Given the description of an element on the screen output the (x, y) to click on. 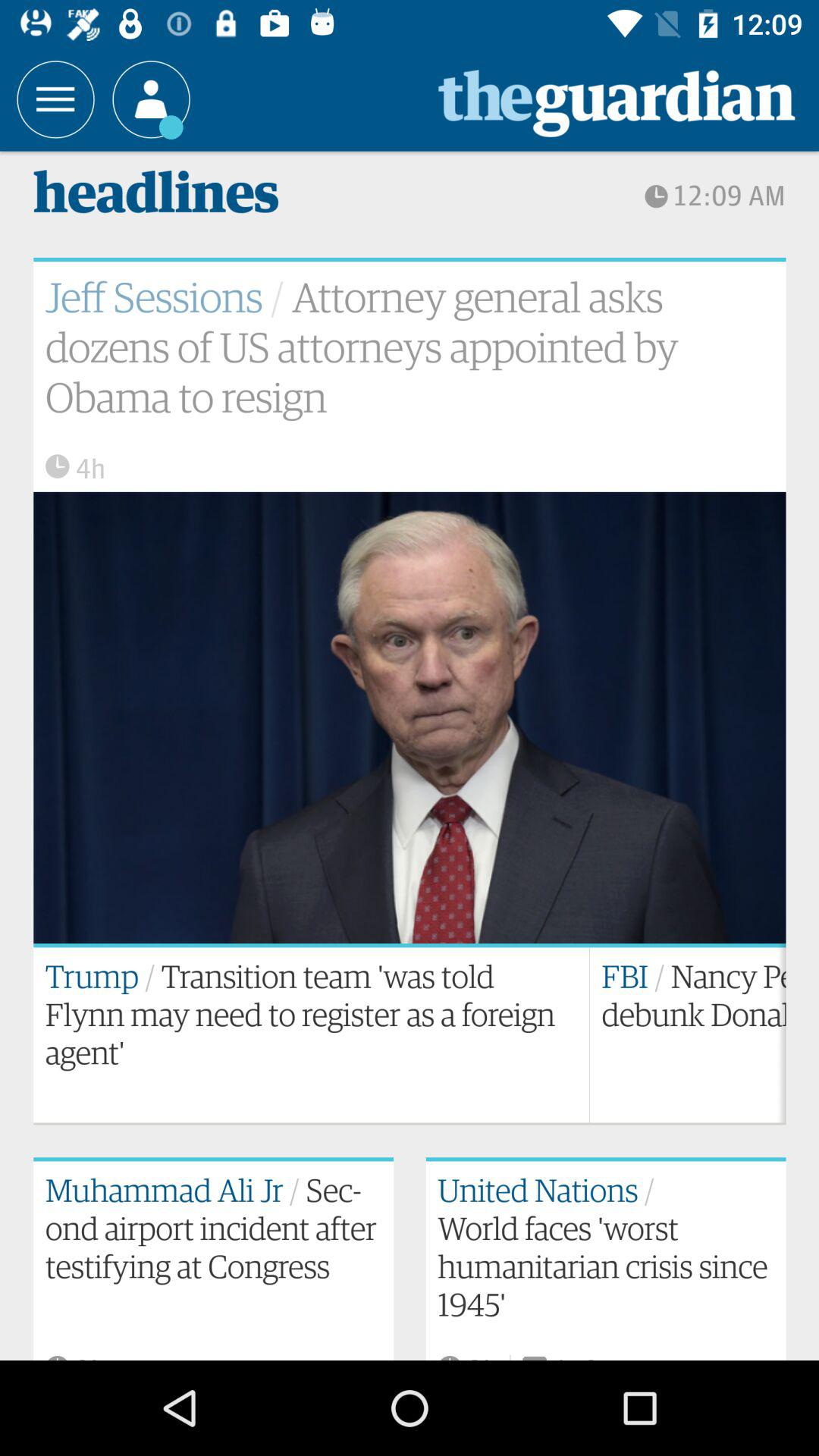
click the bottom left text (213, 1258)
